Given the description of an element on the screen output the (x, y) to click on. 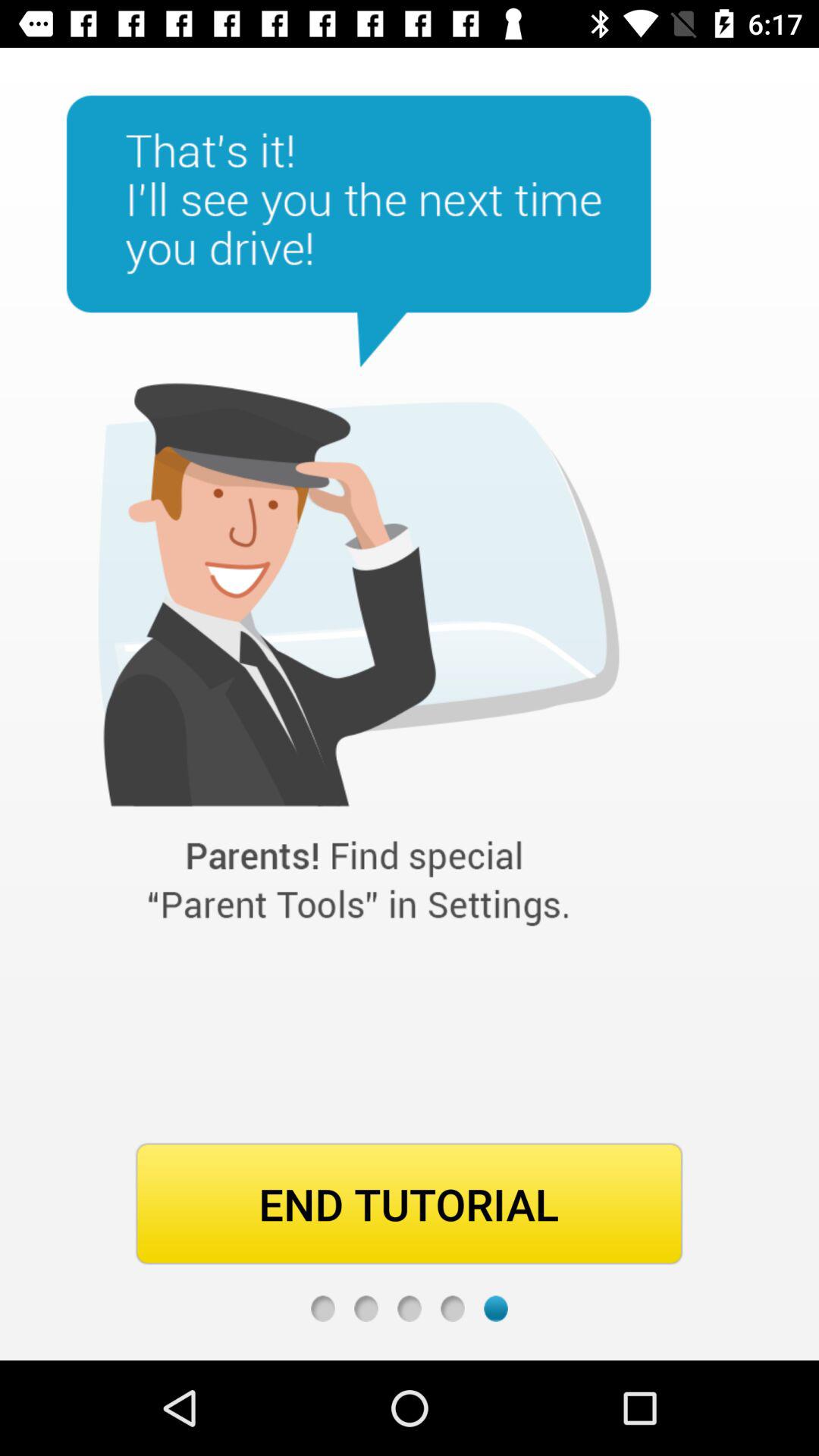
finish tutorial (452, 1308)
